Given the description of an element on the screen output the (x, y) to click on. 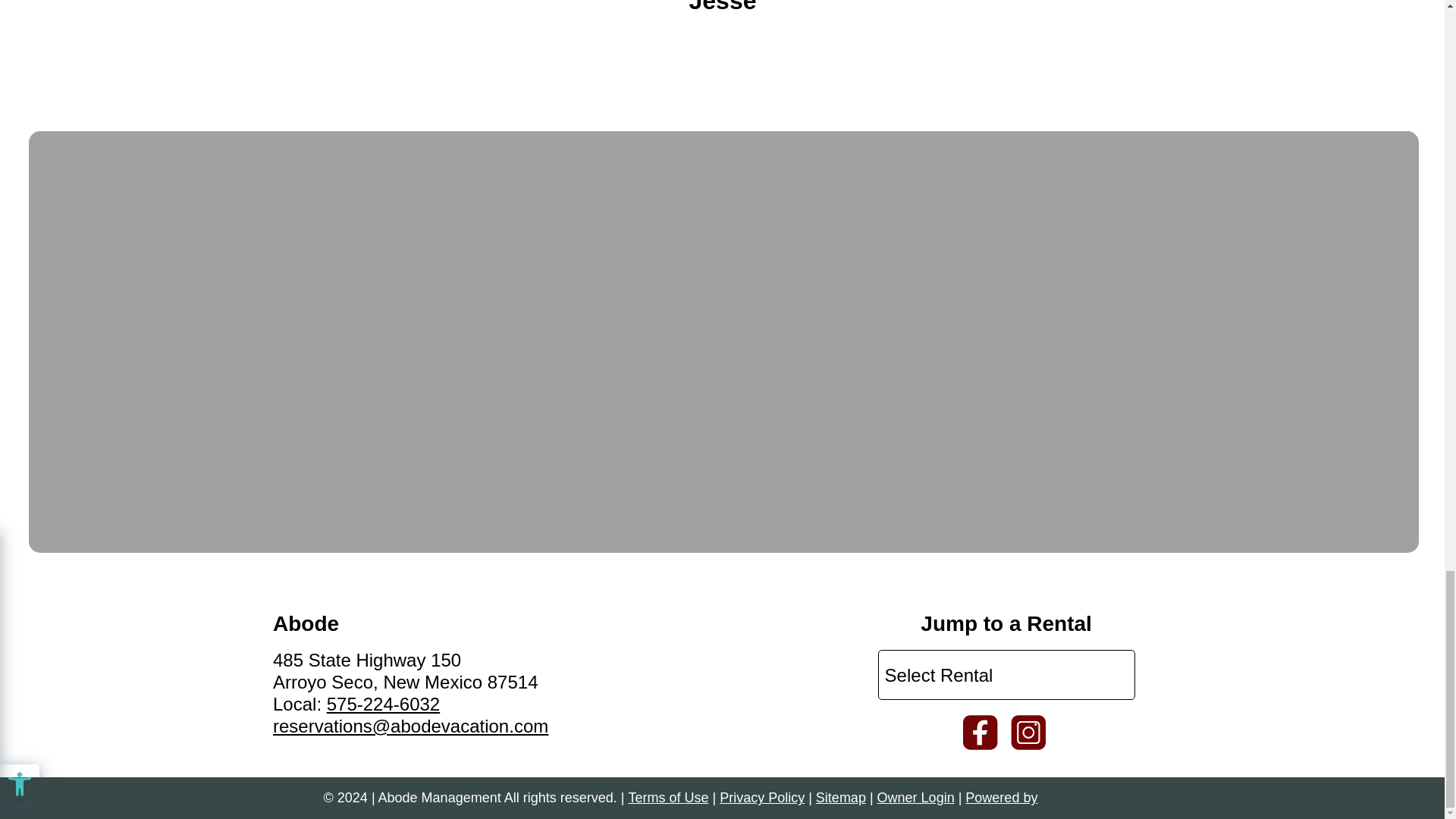
Select Rental (1006, 675)
Atlas - A TravelNet Solutions (1078, 797)
